Given the description of an element on the screen output the (x, y) to click on. 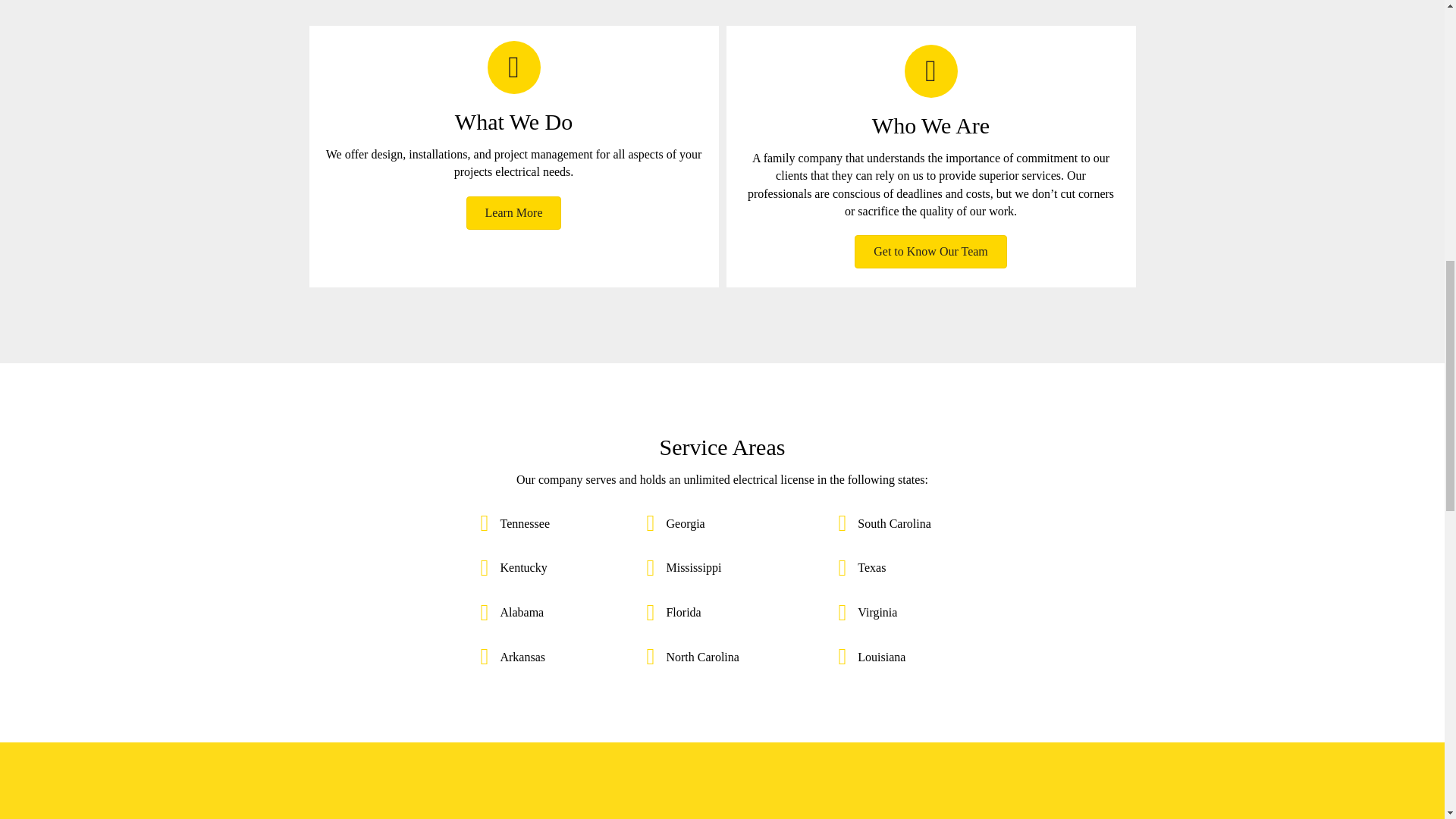
Get to Know Our Team (930, 251)
Learn More (513, 213)
